Given the description of an element on the screen output the (x, y) to click on. 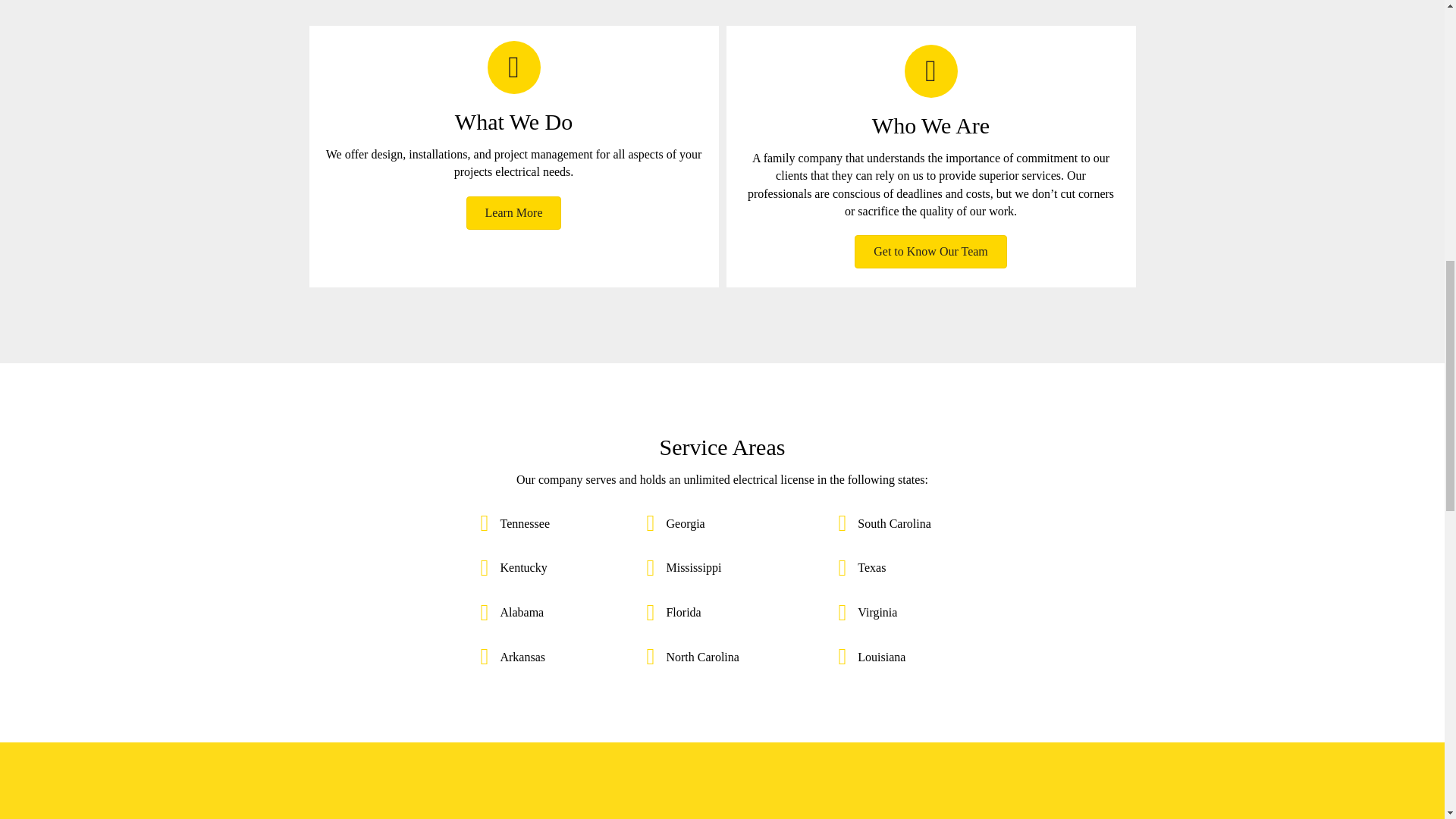
Get to Know Our Team (930, 251)
Learn More (513, 213)
